Given the description of an element on the screen output the (x, y) to click on. 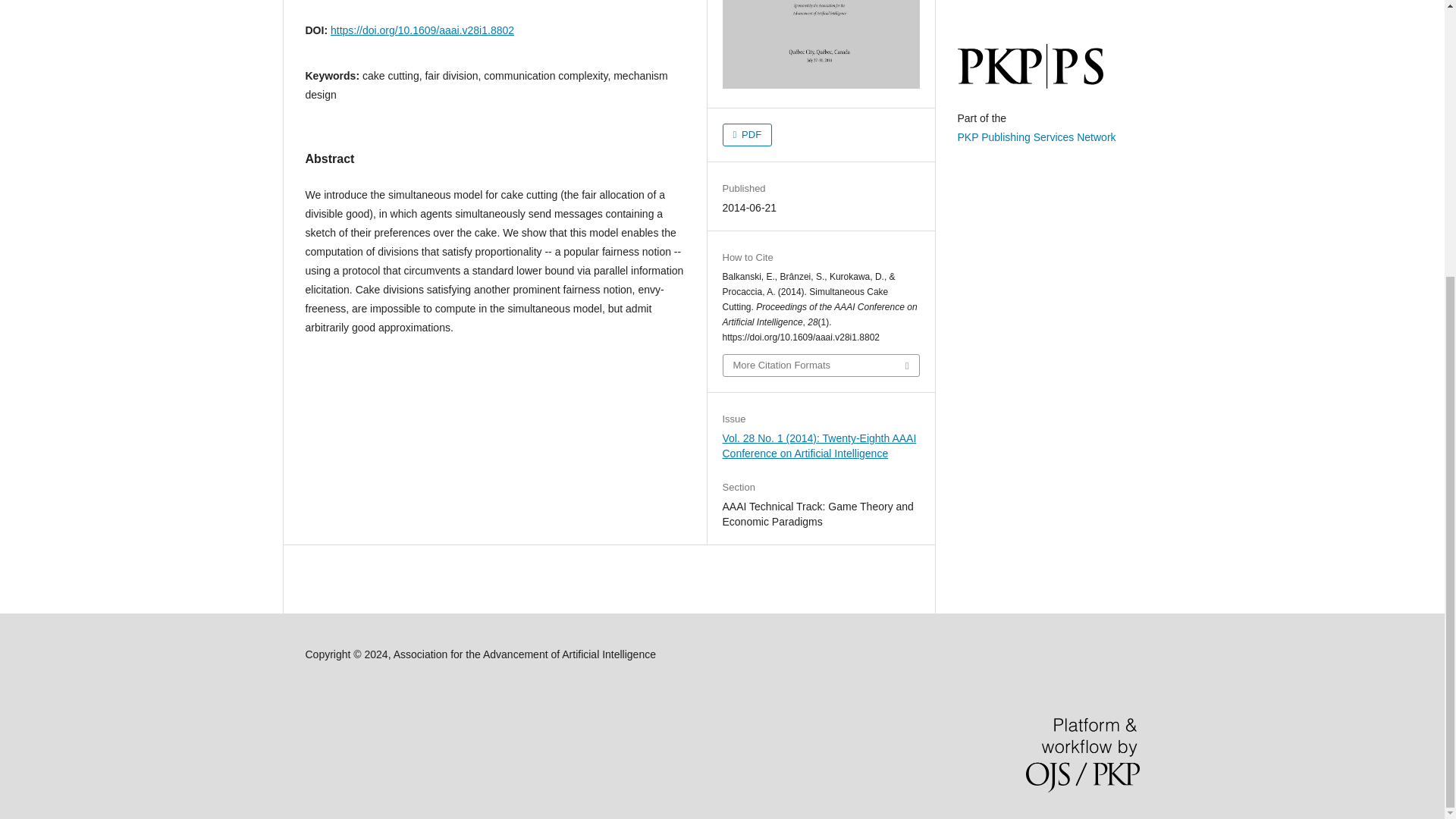
More Citation Formats (820, 364)
PDF (746, 134)
